Given the description of an element on the screen output the (x, y) to click on. 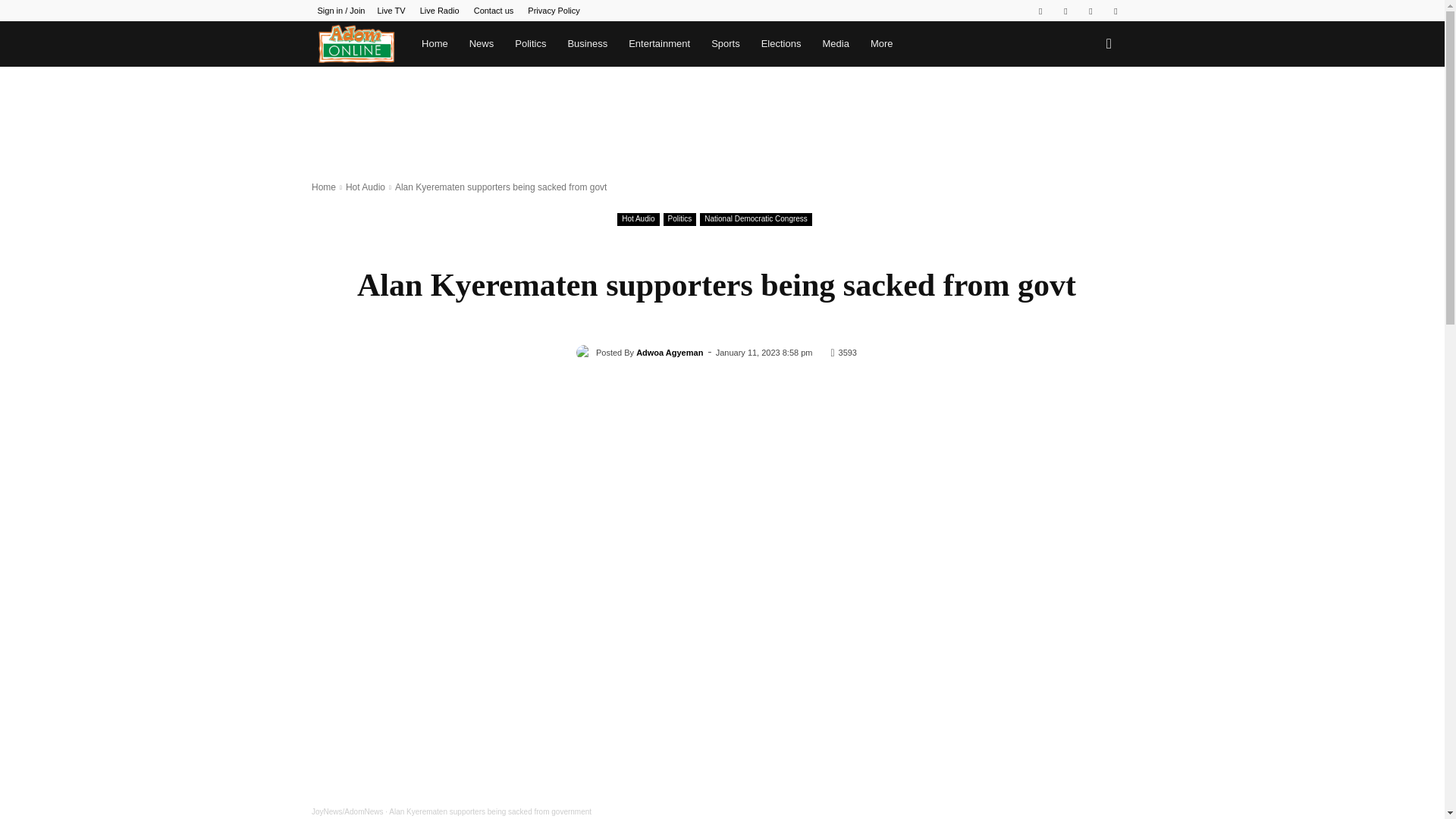
Linkedin (1065, 10)
Adomonline Logo (356, 44)
Youtube (1114, 10)
Live TV (390, 10)
Live Radio (440, 10)
View all posts in Hot Audio (365, 186)
Facebook (1040, 10)
Twitter (1090, 10)
Contact us (493, 10)
Adwoa Agyeman (585, 352)
